Given the description of an element on the screen output the (x, y) to click on. 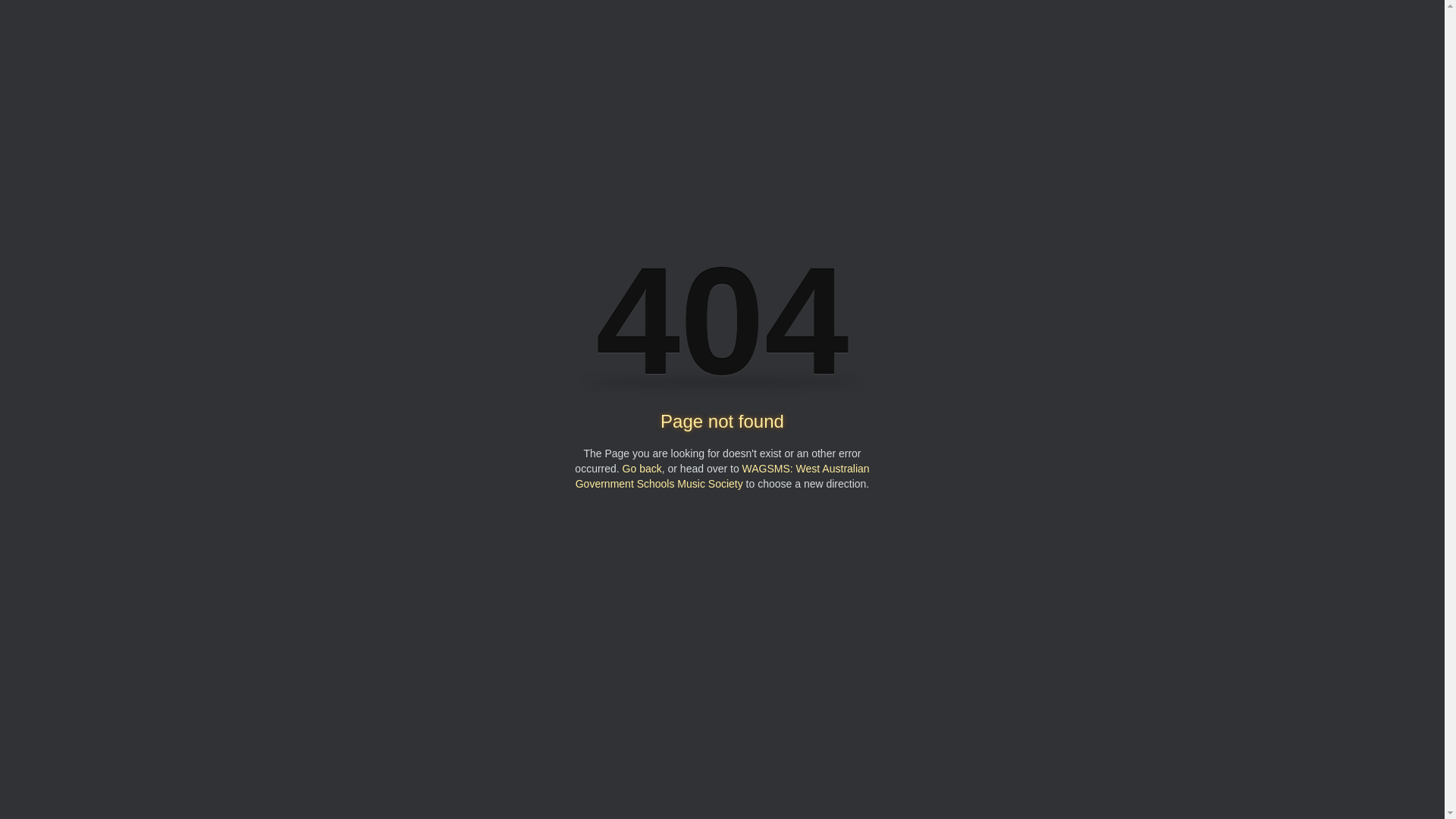
Go back Element type: text (642, 468)
WAGSMS: West Australian Government Schools Music Society Element type: text (722, 475)
